Given the description of an element on the screen output the (x, y) to click on. 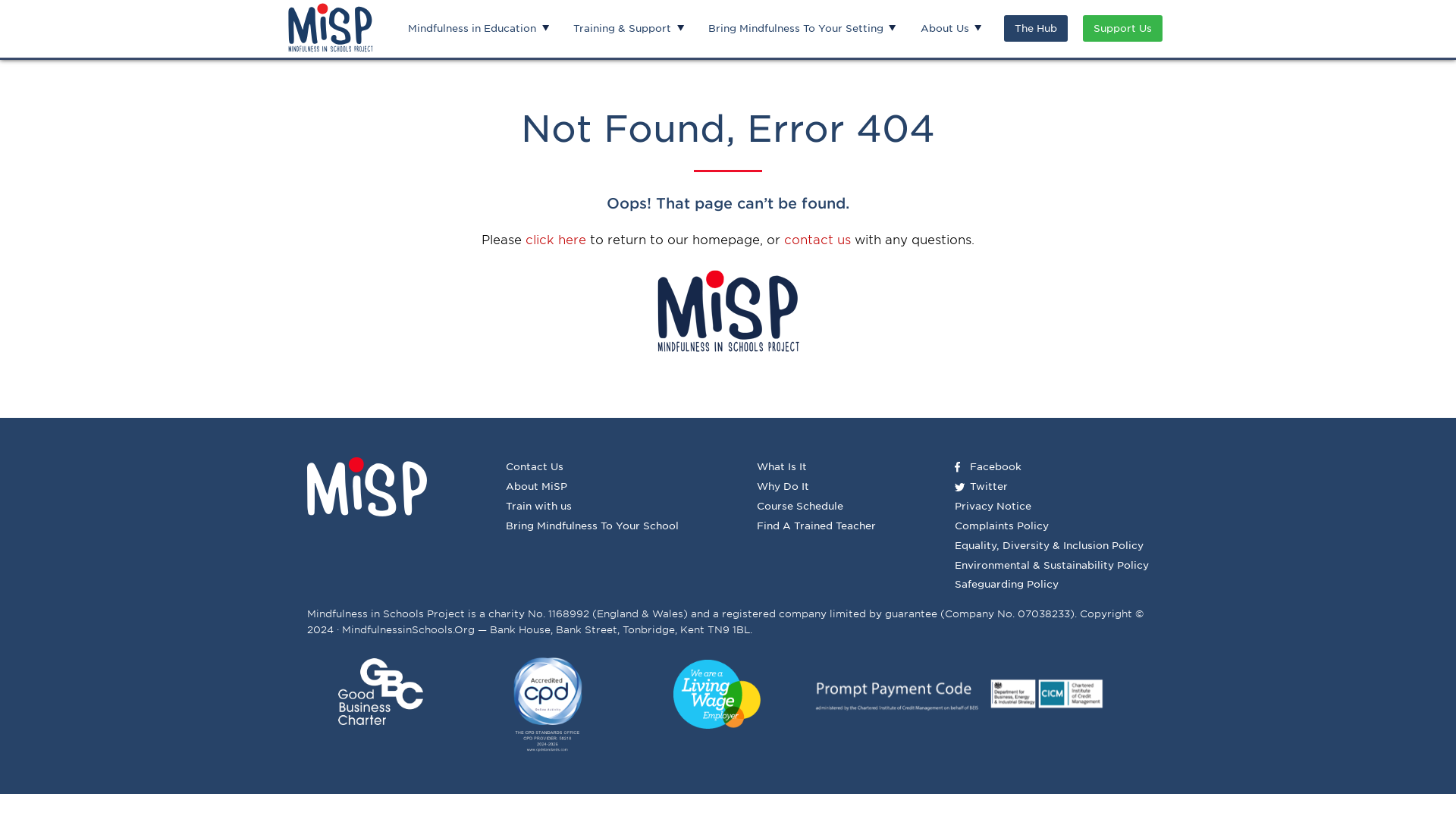
Mindfulness in Education (472, 28)
Follow Us on Twitter (988, 486)
Bring Mindfulness To Your Setting (796, 28)
Follow Us on Facebook (995, 466)
Mindfulness in Schools Project (330, 27)
